Given the description of an element on the screen output the (x, y) to click on. 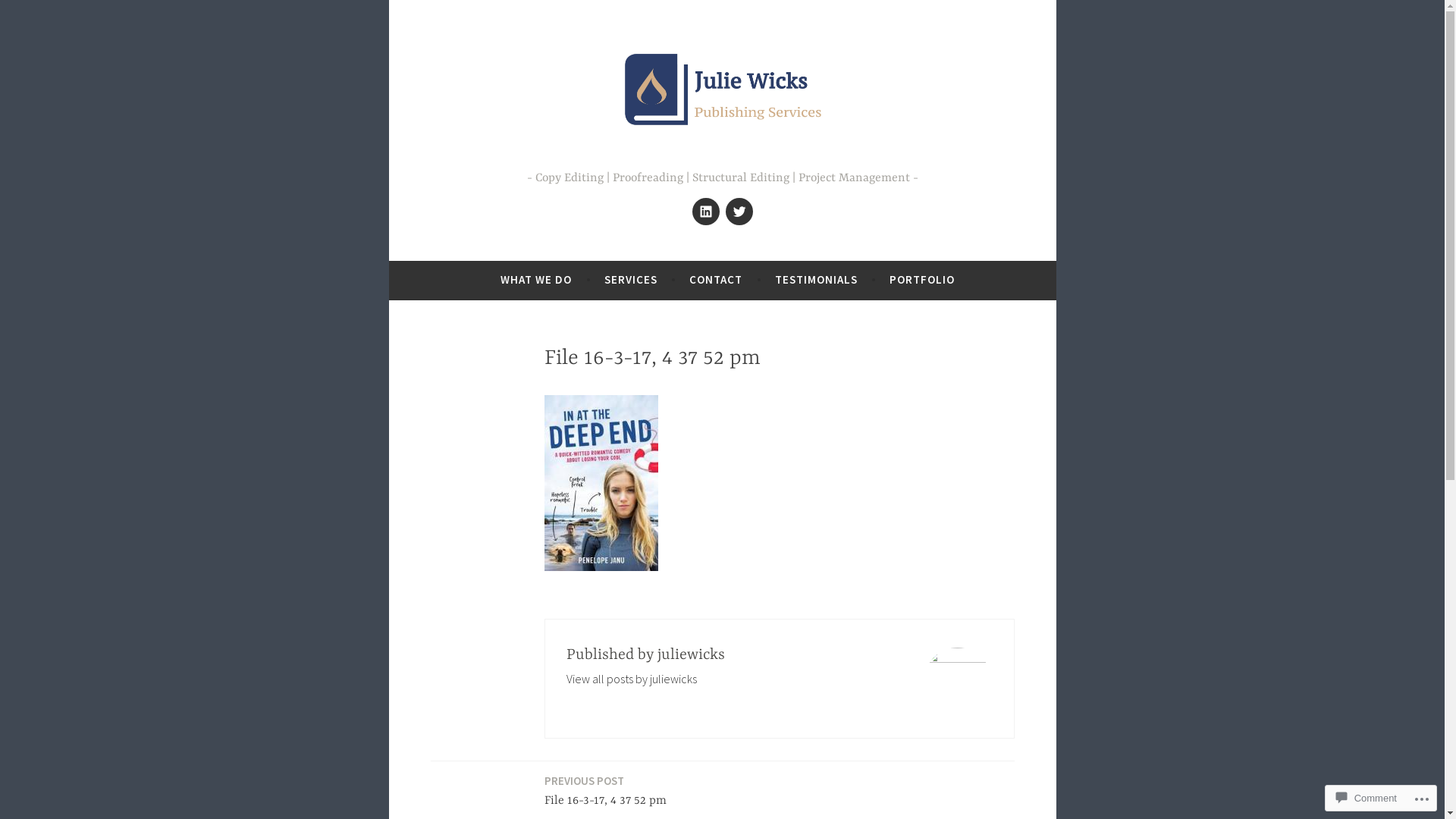
TESTIMONIALS Element type: text (816, 279)
Comment Element type: text (1366, 797)
WHAT WE DO Element type: text (535, 279)
PORTFOLIO Element type: text (921, 279)
PREVIOUS POST
File 16-3-17, 4 37 52 pm Element type: text (605, 791)
View all posts by juliewicks Element type: text (631, 678)
CONTACT Element type: text (715, 279)
SERVICES Element type: text (630, 279)
